Given the description of an element on the screen output the (x, y) to click on. 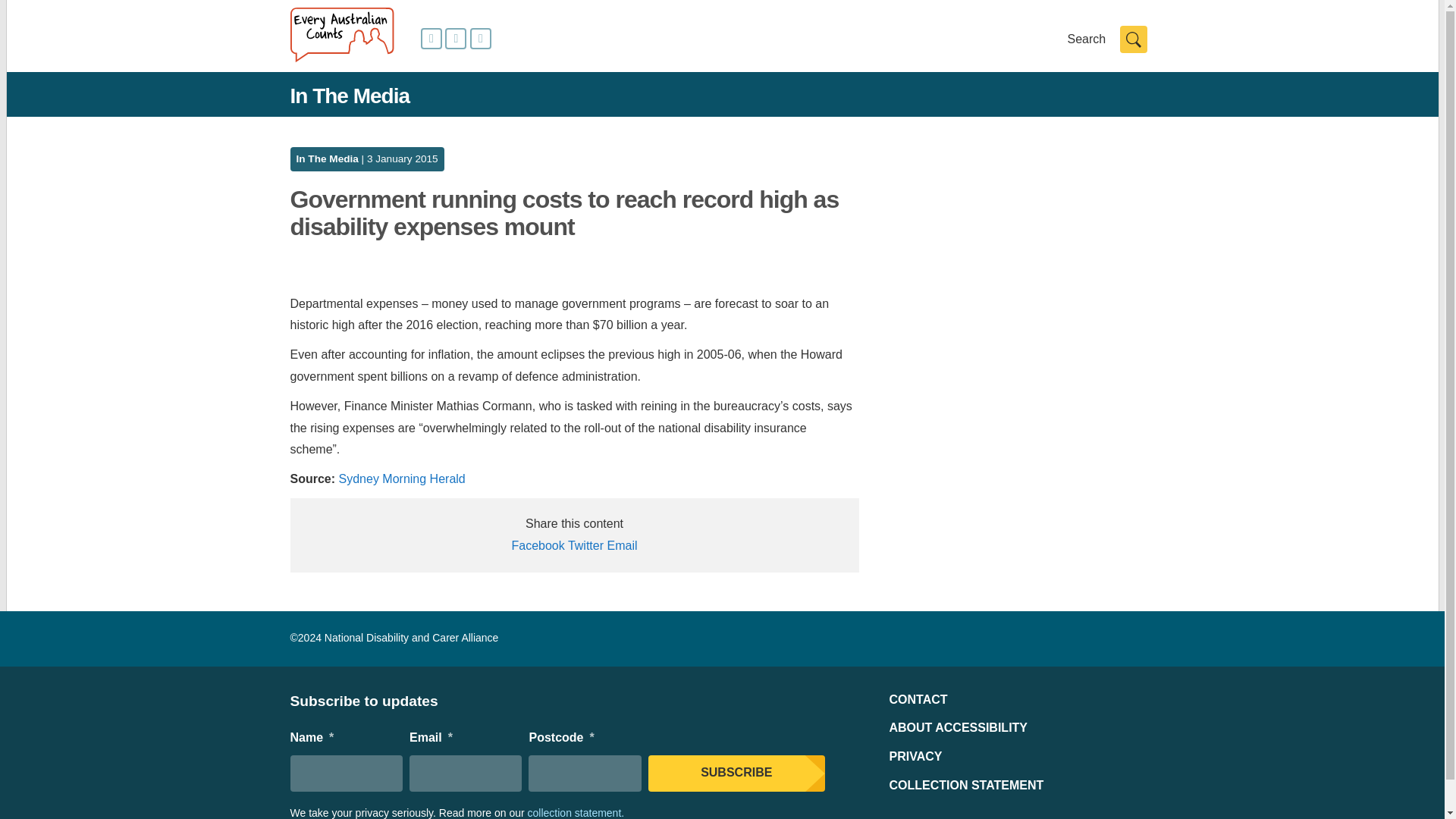
Email (622, 545)
Twitter (585, 545)
Sydney Morning Herald (402, 478)
Facebook (537, 545)
Subscribe (736, 773)
Share via Facebook (537, 545)
In The Media (326, 158)
PRIVACY (915, 756)
Share via Twitter (585, 545)
Search (1133, 39)
